Given the description of an element on the screen output the (x, y) to click on. 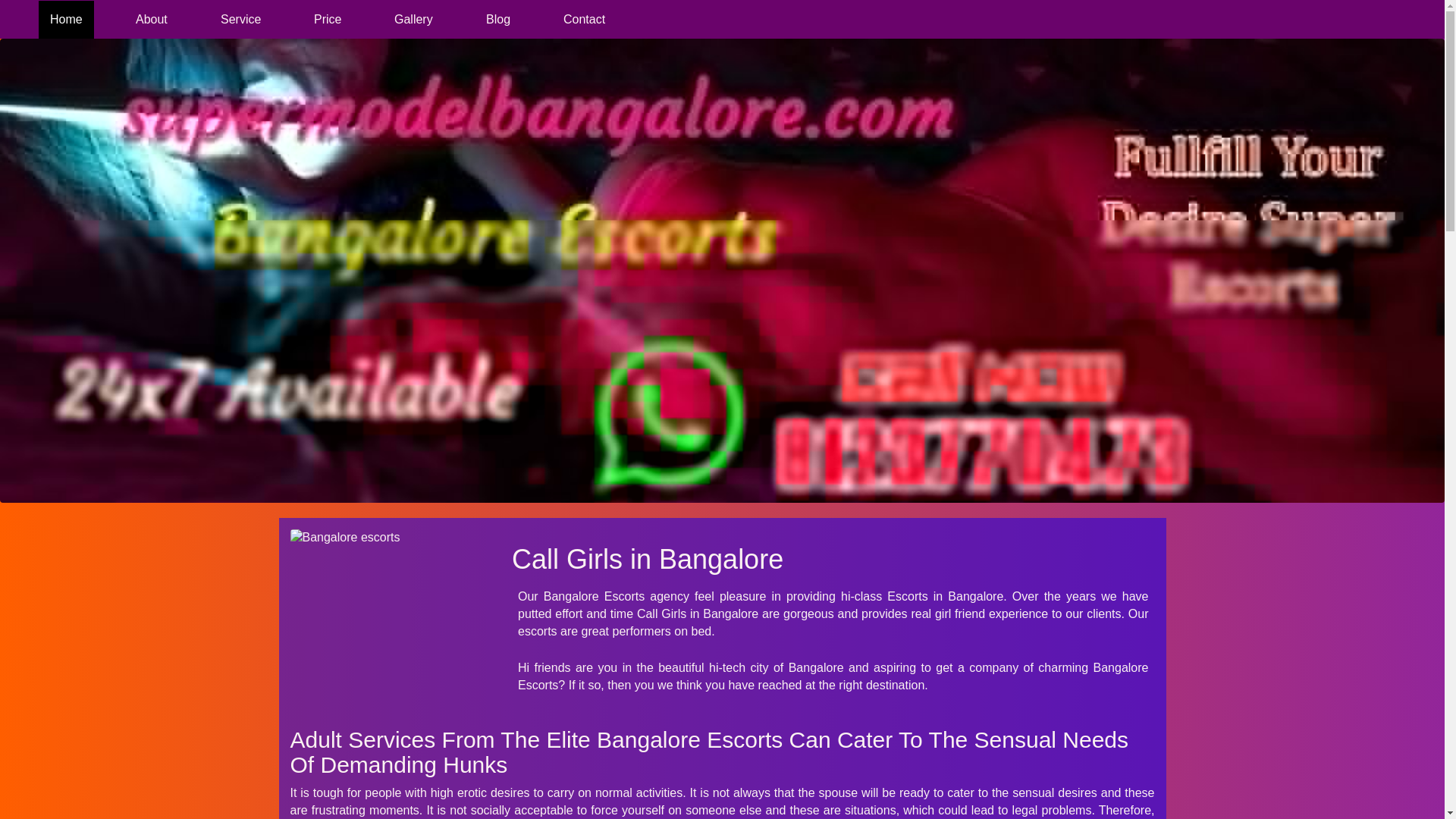
Bangalore escorts (389, 538)
Price (327, 19)
Service (240, 19)
Home (66, 19)
Blog (497, 19)
Gallery (413, 19)
Contact (583, 19)
About (151, 19)
